Given the description of an element on the screen output the (x, y) to click on. 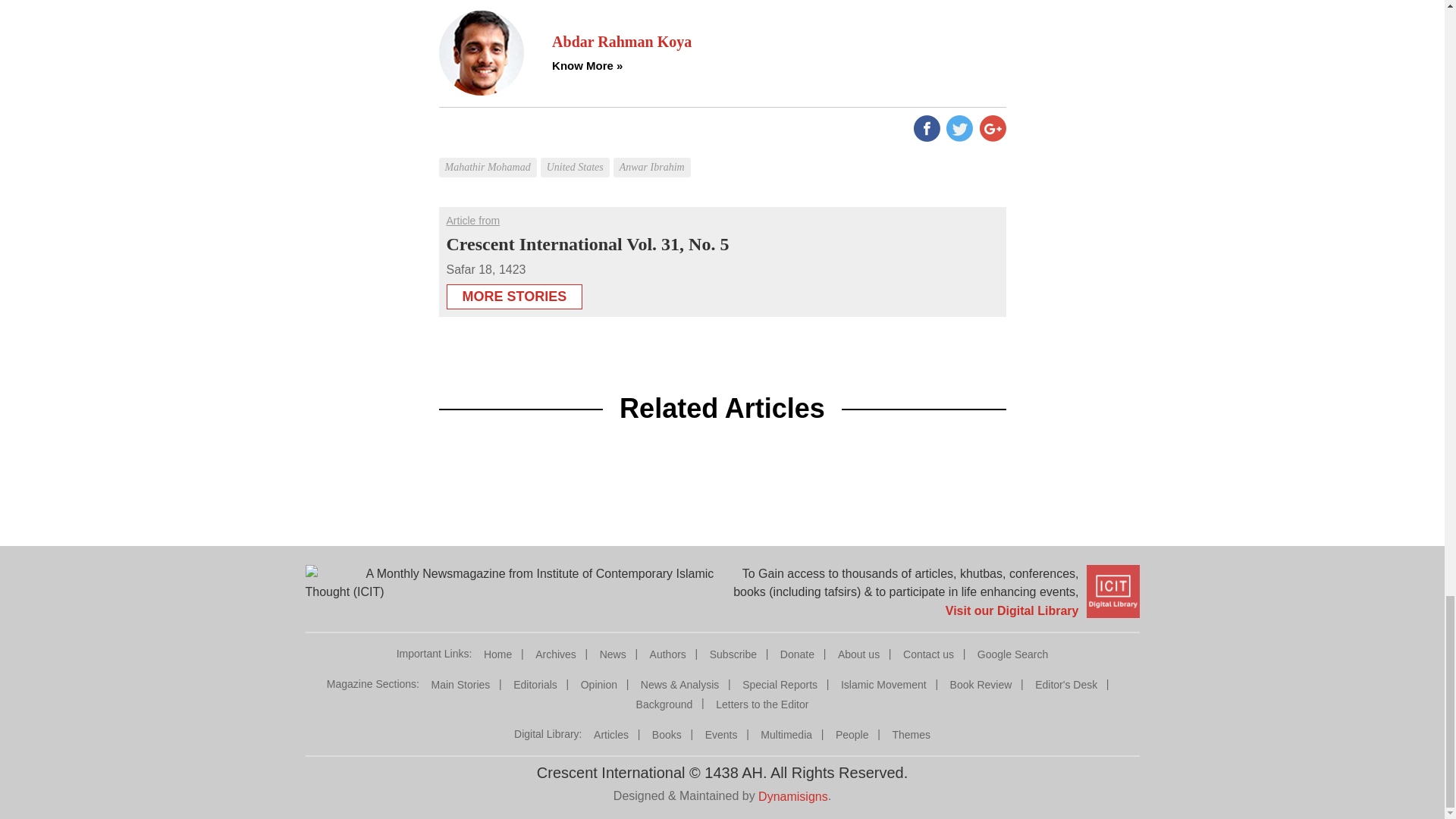
Mahathir Mohamad (489, 155)
United States (576, 155)
MORE STORIES (513, 291)
MORE STORIES (513, 296)
Anwar Ibrahim (653, 155)
Abdar Rahman Koya (778, 41)
